Given the description of an element on the screen output the (x, y) to click on. 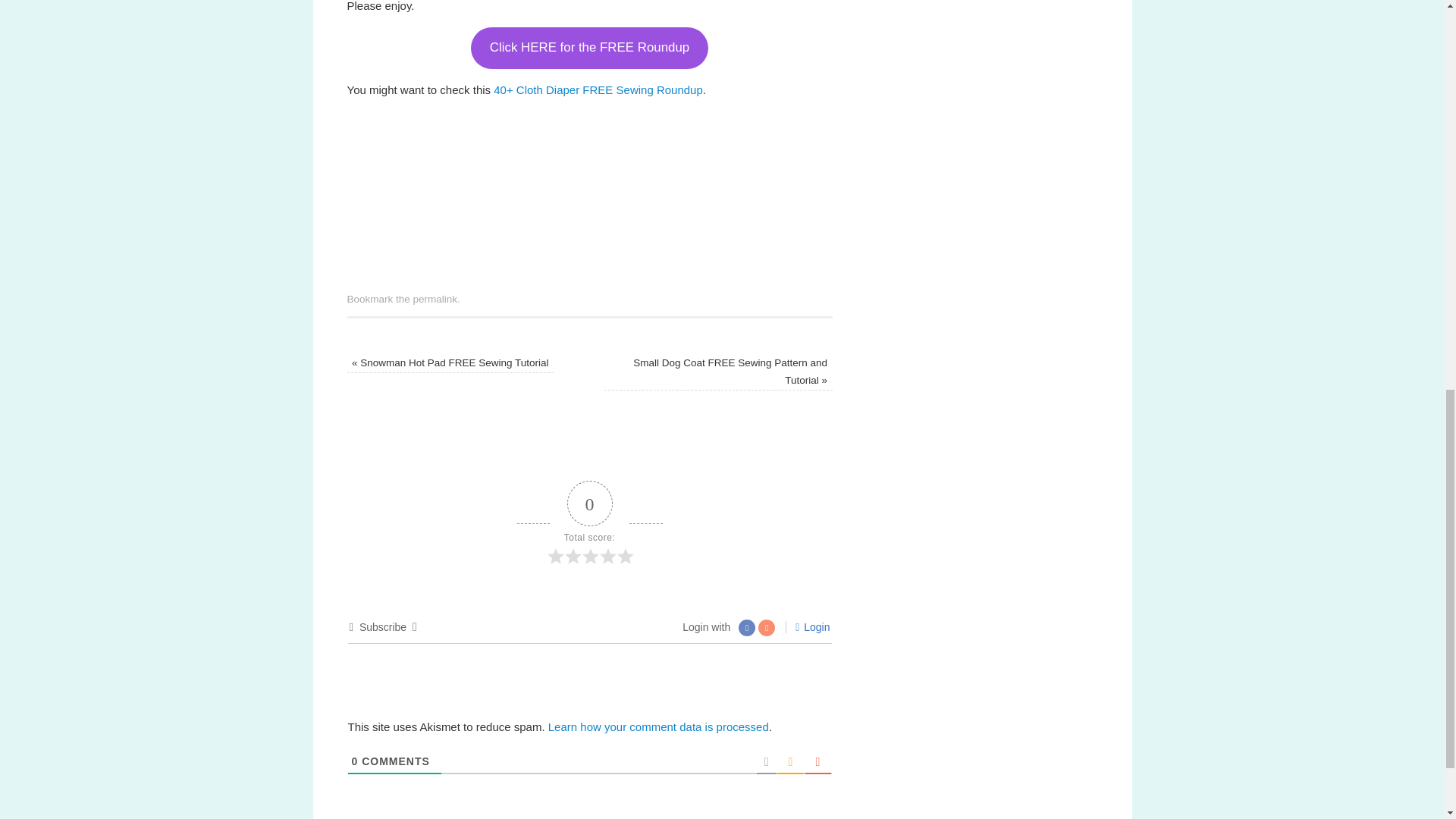
Total score: (589, 523)
Click HERE for the FREE Roundup (588, 47)
